Given the description of an element on the screen output the (x, y) to click on. 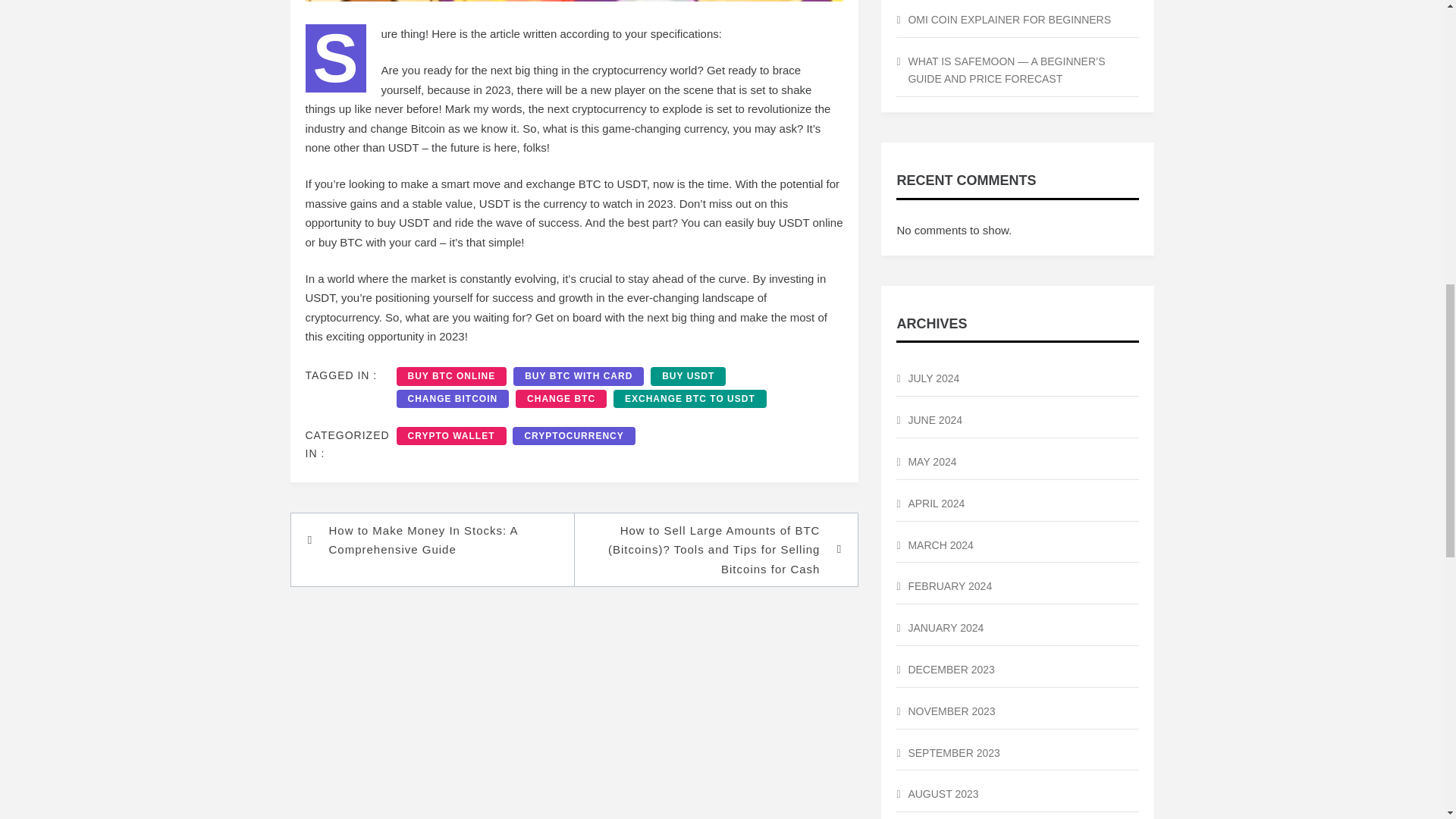
MAY 2024 (1017, 462)
JULY 2024 (1017, 379)
CRYPTO WALLET (450, 435)
DECEMBER 2023 (1017, 670)
CHANGE BITCOIN (452, 398)
SEPTEMBER 2023 (1017, 754)
CRYPTOCURRENCY (573, 435)
BUY USDT (687, 375)
OMI COIN EXPLAINER FOR BEGINNERS (1017, 20)
BUY BTC ONLINE (451, 375)
JUNE 2024 (1017, 421)
How to Make Money In Stocks: A Comprehensive Guide (439, 539)
APRIL 2024 (1017, 504)
CHANGE BTC (561, 398)
NOVEMBER 2023 (1017, 712)
